Given the description of an element on the screen output the (x, y) to click on. 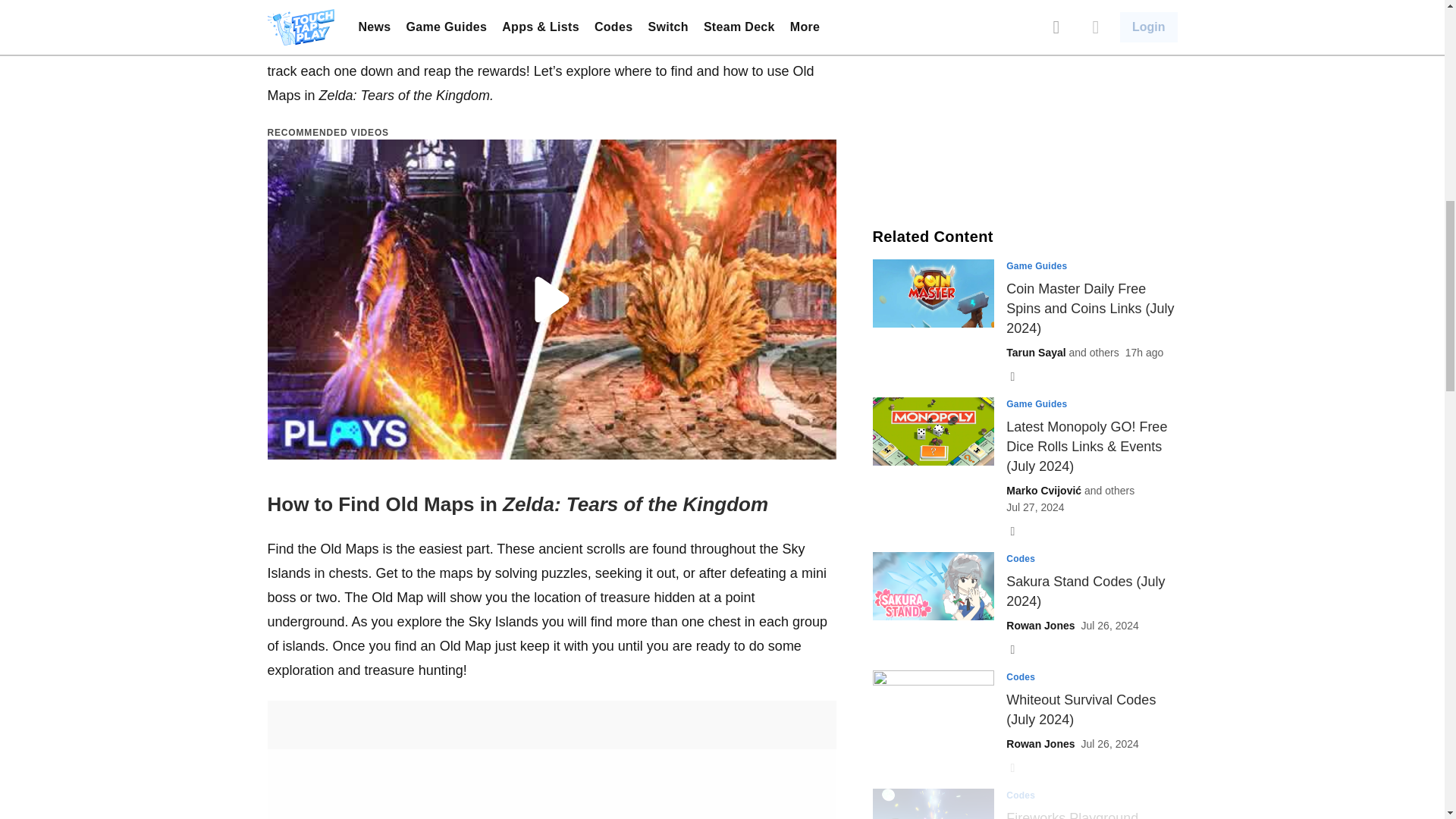
3rd party ad content (1024, 99)
3rd party ad content (552, 740)
